Given the description of an element on the screen output the (x, y) to click on. 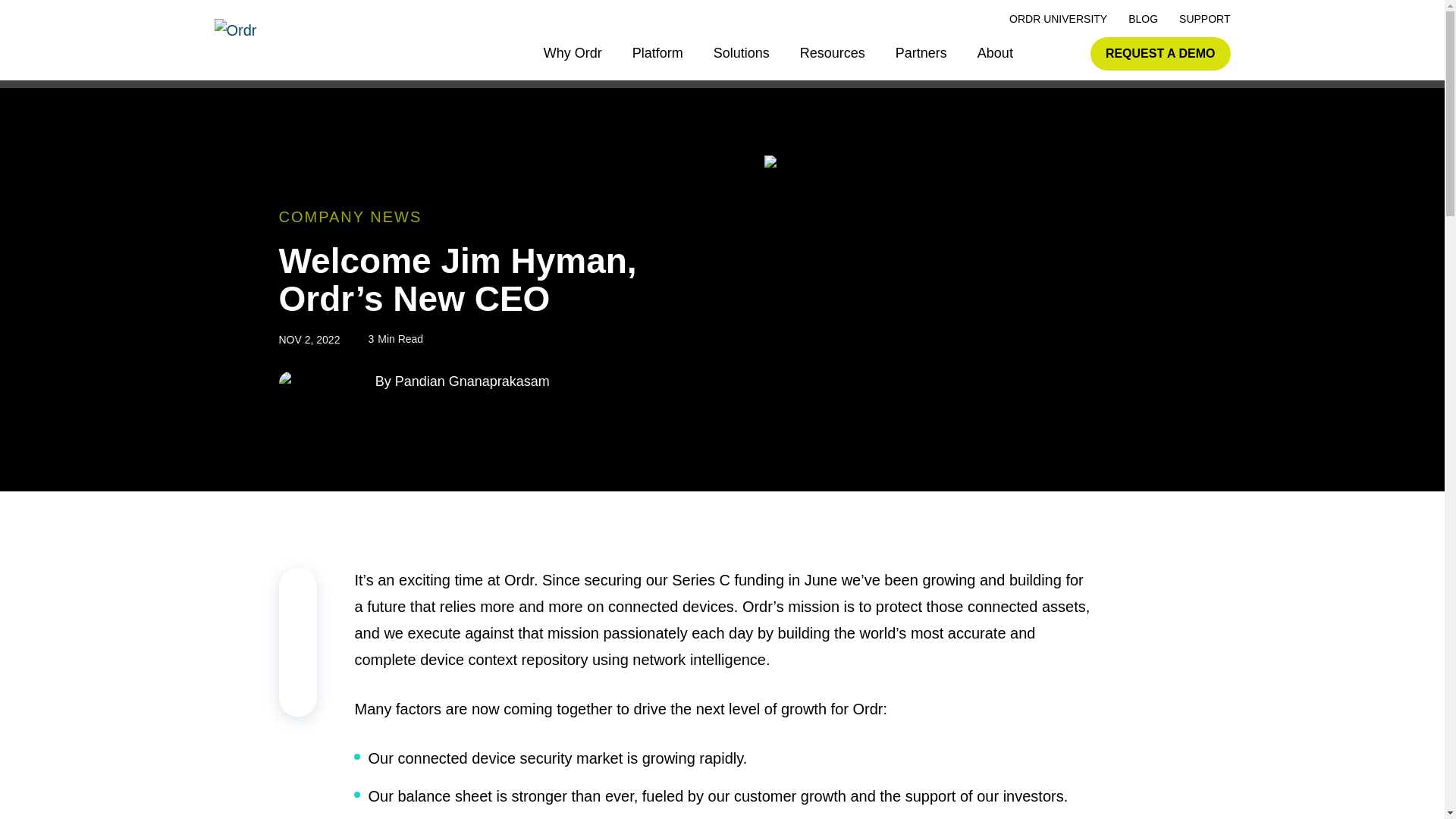
ORDR UNIVERSITY (1057, 19)
X (298, 660)
BLOG (1142, 19)
Platform (657, 53)
Resources (832, 53)
Solutions (741, 53)
Ordr (272, 41)
Why Ordr (572, 53)
Copy Link (298, 586)
Facebook (298, 697)
